Given the description of an element on the screen output the (x, y) to click on. 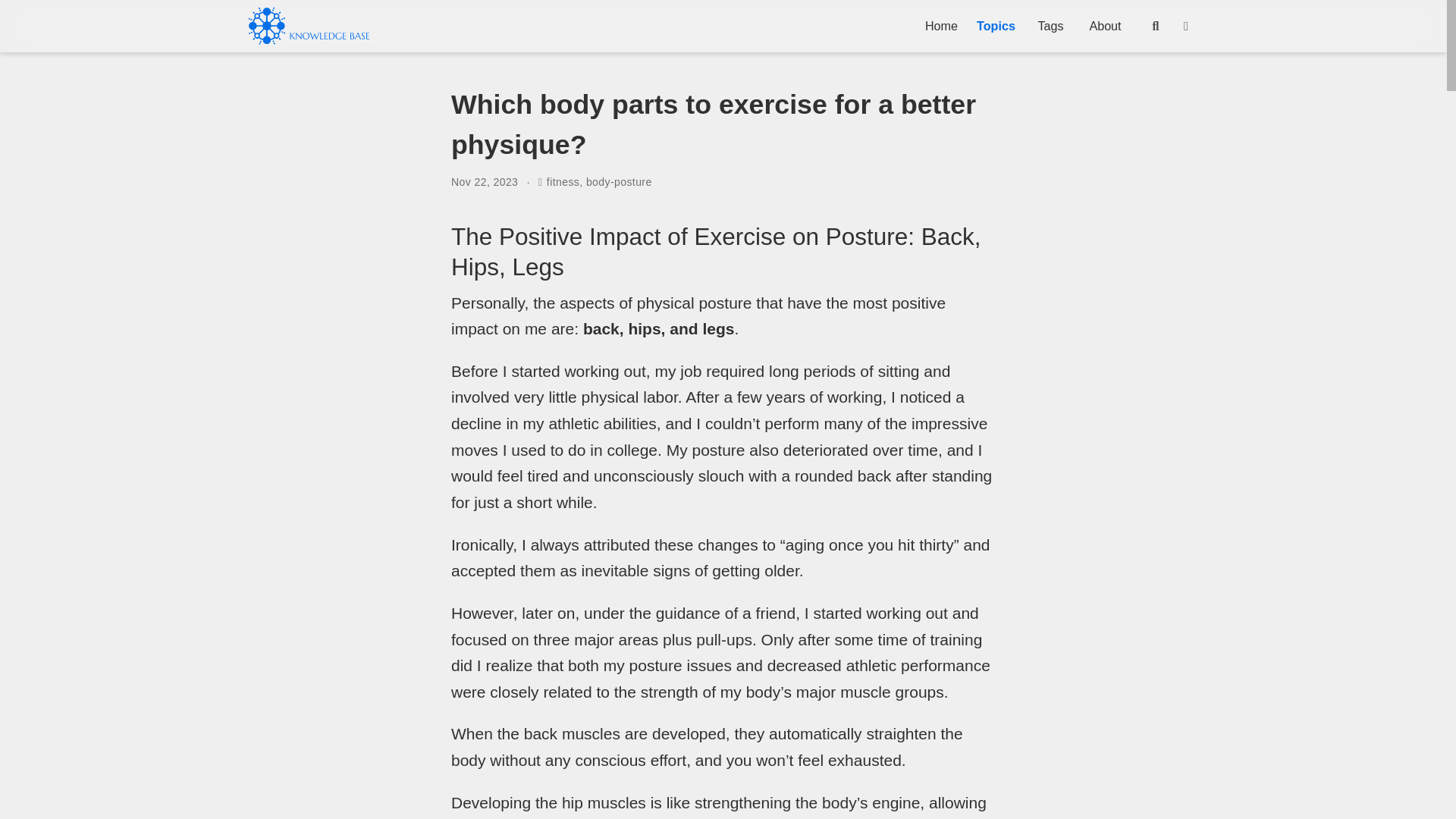
body-posture (619, 182)
Home (941, 26)
Tags (1050, 26)
About (1105, 26)
Topics (996, 26)
fitness (563, 182)
